Given the description of an element on the screen output the (x, y) to click on. 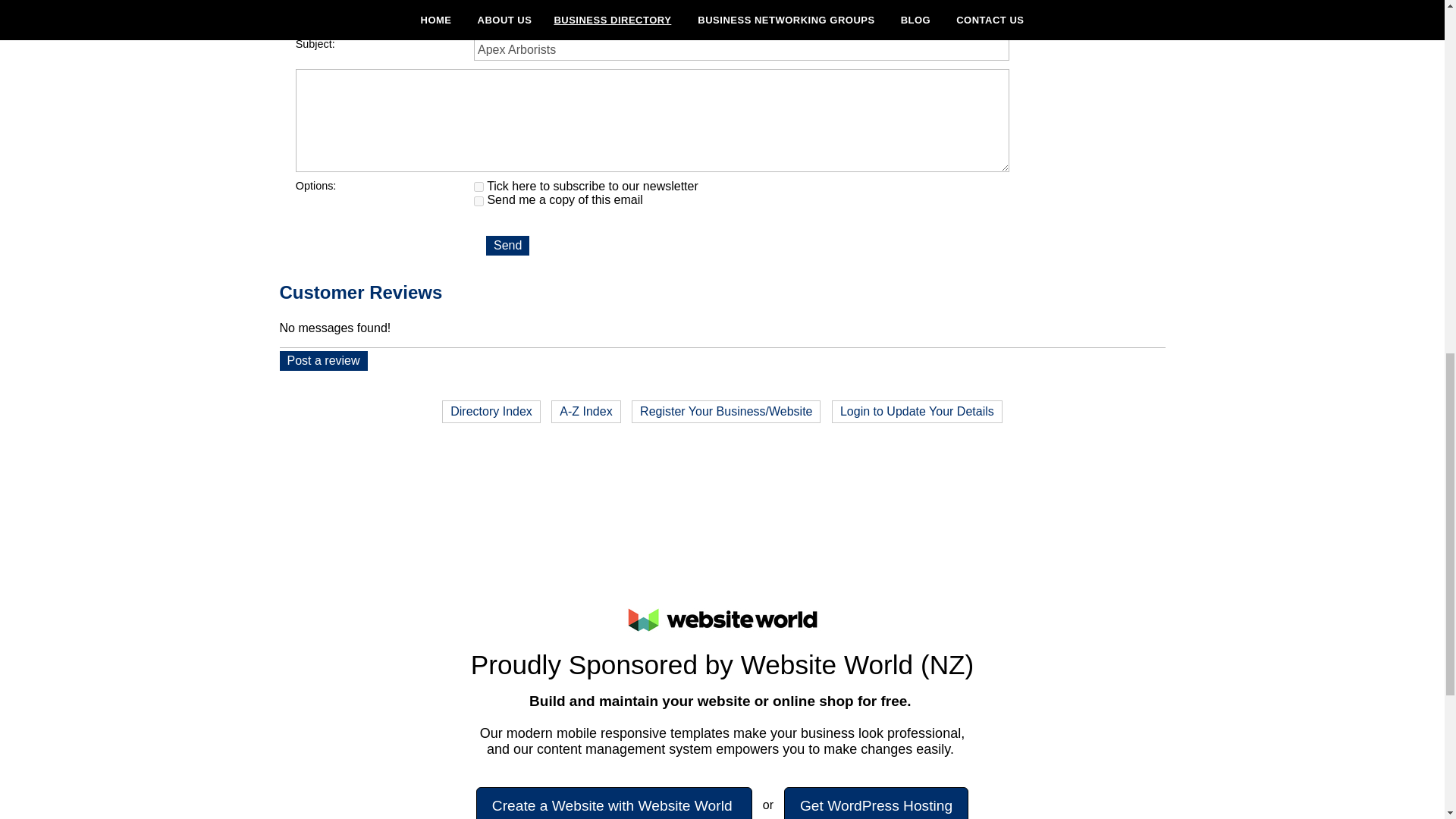
Post a review (322, 361)
1 (478, 186)
1 (478, 201)
Send (507, 245)
Apex Arborists (741, 49)
Send (507, 245)
